Given the description of an element on the screen output the (x, y) to click on. 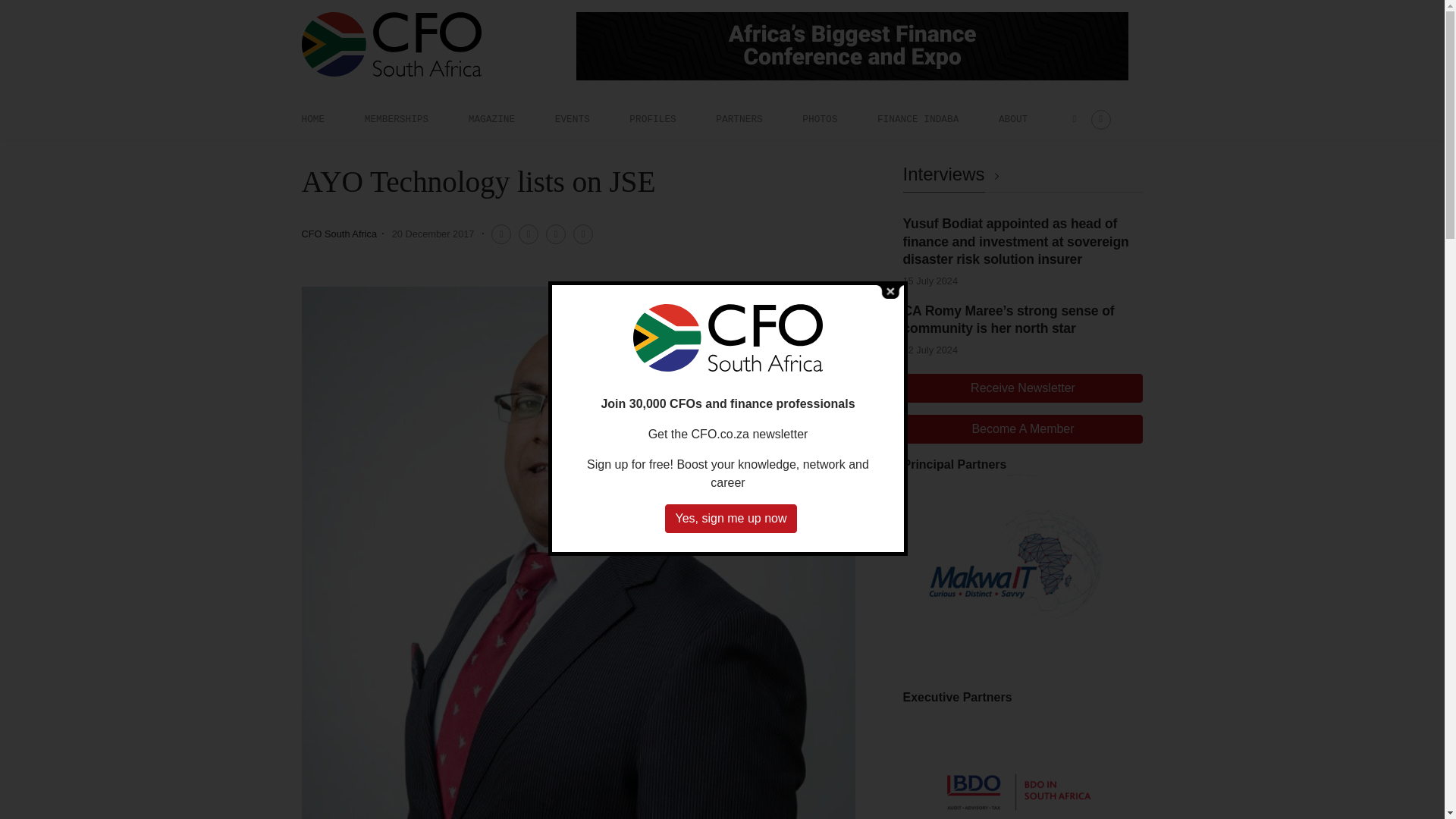
PARTNERS (738, 119)
Receive Newsletter (1022, 387)
FINANCE INDABA (918, 119)
CFO South Africa (339, 233)
PROFILES (651, 119)
ABOUT (1012, 119)
PHOTOS (819, 119)
Interviews (953, 173)
Close (890, 290)
HOME (312, 119)
EVENTS (571, 119)
MEMBERSHIPS (396, 119)
Become A Member (1022, 428)
MAGAZINE (491, 119)
